Given the description of an element on the screen output the (x, y) to click on. 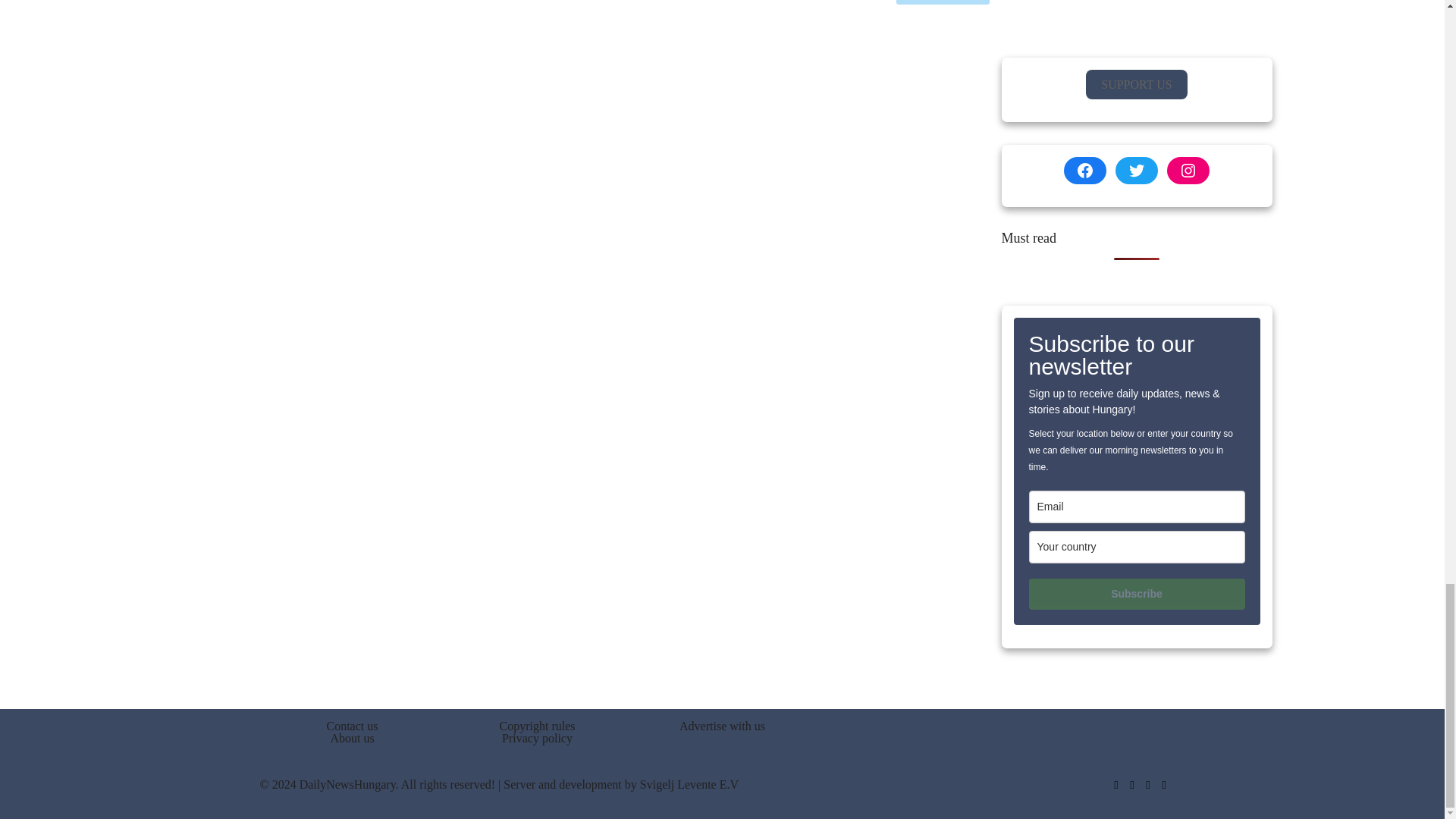
Post Comment (943, 2)
Instagram (1147, 784)
Facebook (1115, 784)
RSS (1164, 784)
